Given the description of an element on the screen output the (x, y) to click on. 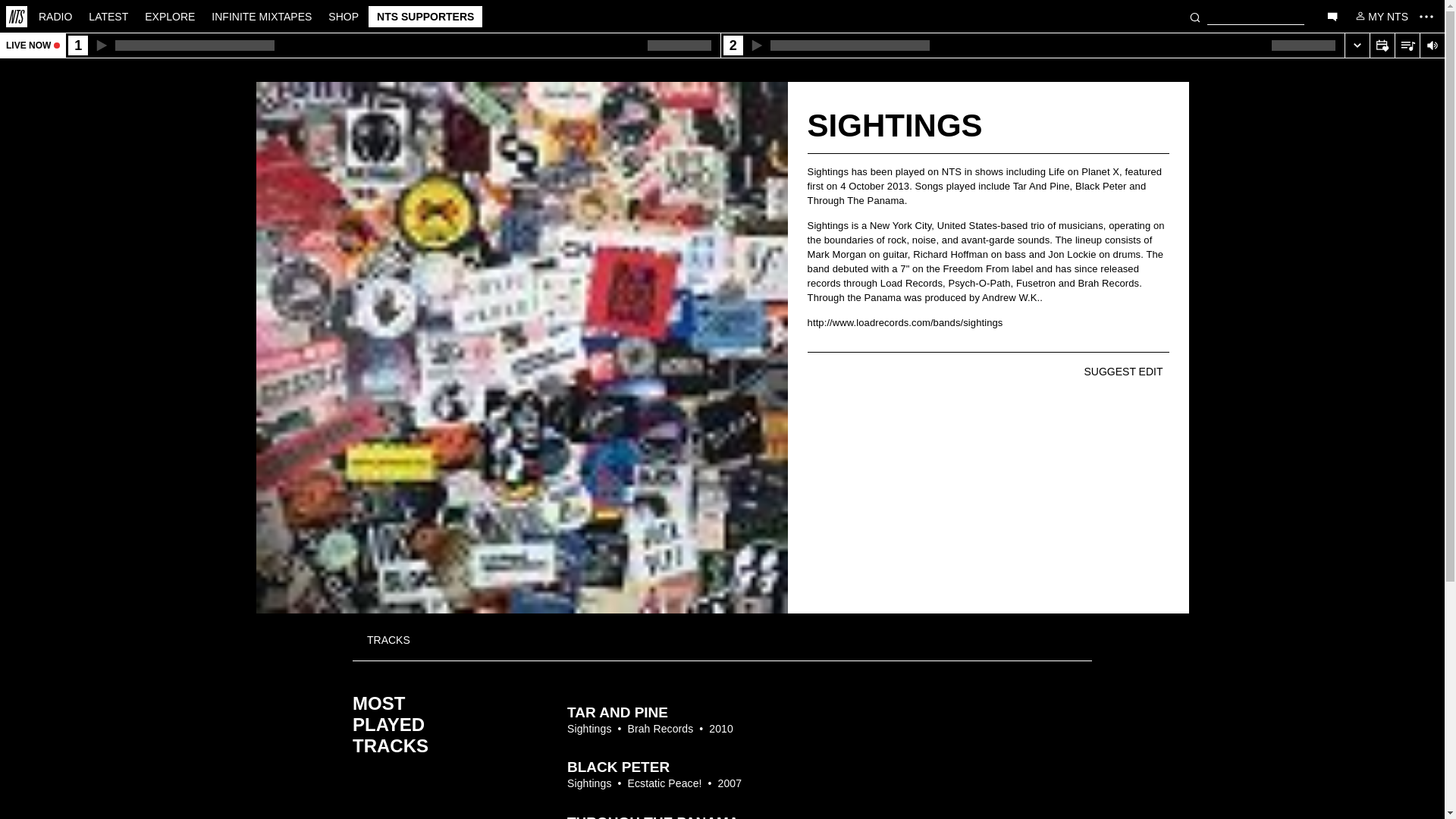
MY NTS (1380, 15)
INFINITE MIXTAPES (261, 15)
LATEST (108, 15)
1 (392, 45)
2 (1031, 45)
SHOP (343, 15)
Toggle navigation menu (1425, 16)
RADIO (55, 15)
NTS SUPPORTERS (424, 16)
EXPLORE (169, 15)
